Given the description of an element on the screen output the (x, y) to click on. 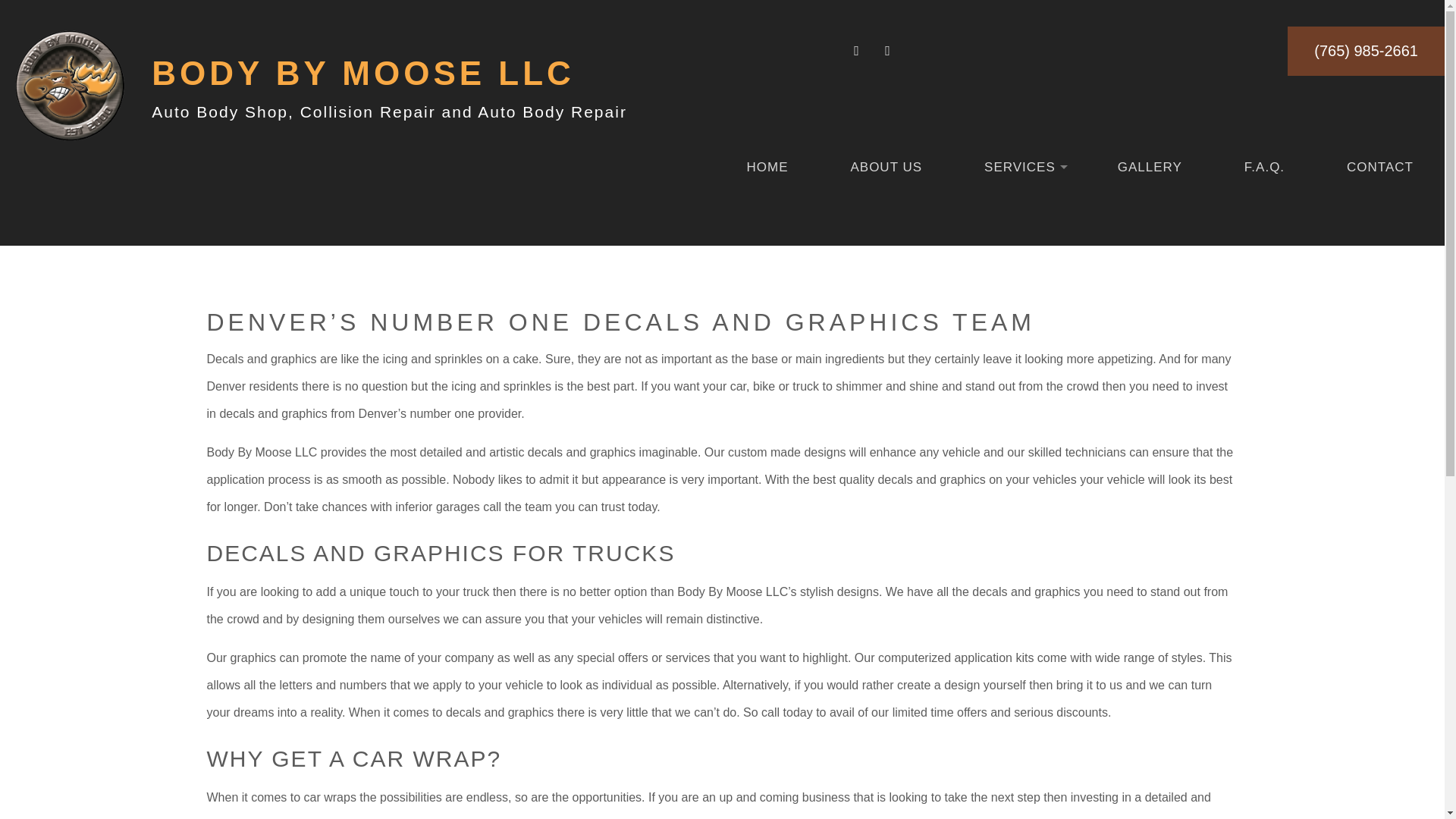
DECALS AND GRAPHICS (1181, 287)
GLASS REPAIR (1181, 318)
CUSTOM AUTO PARTS (857, 287)
SERVICES (1019, 167)
Body By Moose LLC's Facebook (858, 51)
BODY BY MOOSE LLC (363, 72)
DENT REPAIR (857, 318)
GALLERY (1149, 167)
F.A.Q. (1264, 167)
CAR PAINT (857, 255)
Body By Moose LLC's Google Maps (887, 51)
HOME (767, 167)
AUTO INSURANCE CLAIM (1181, 223)
AUTO AC (857, 223)
CONTACT (1380, 167)
